Given the description of an element on the screen output the (x, y) to click on. 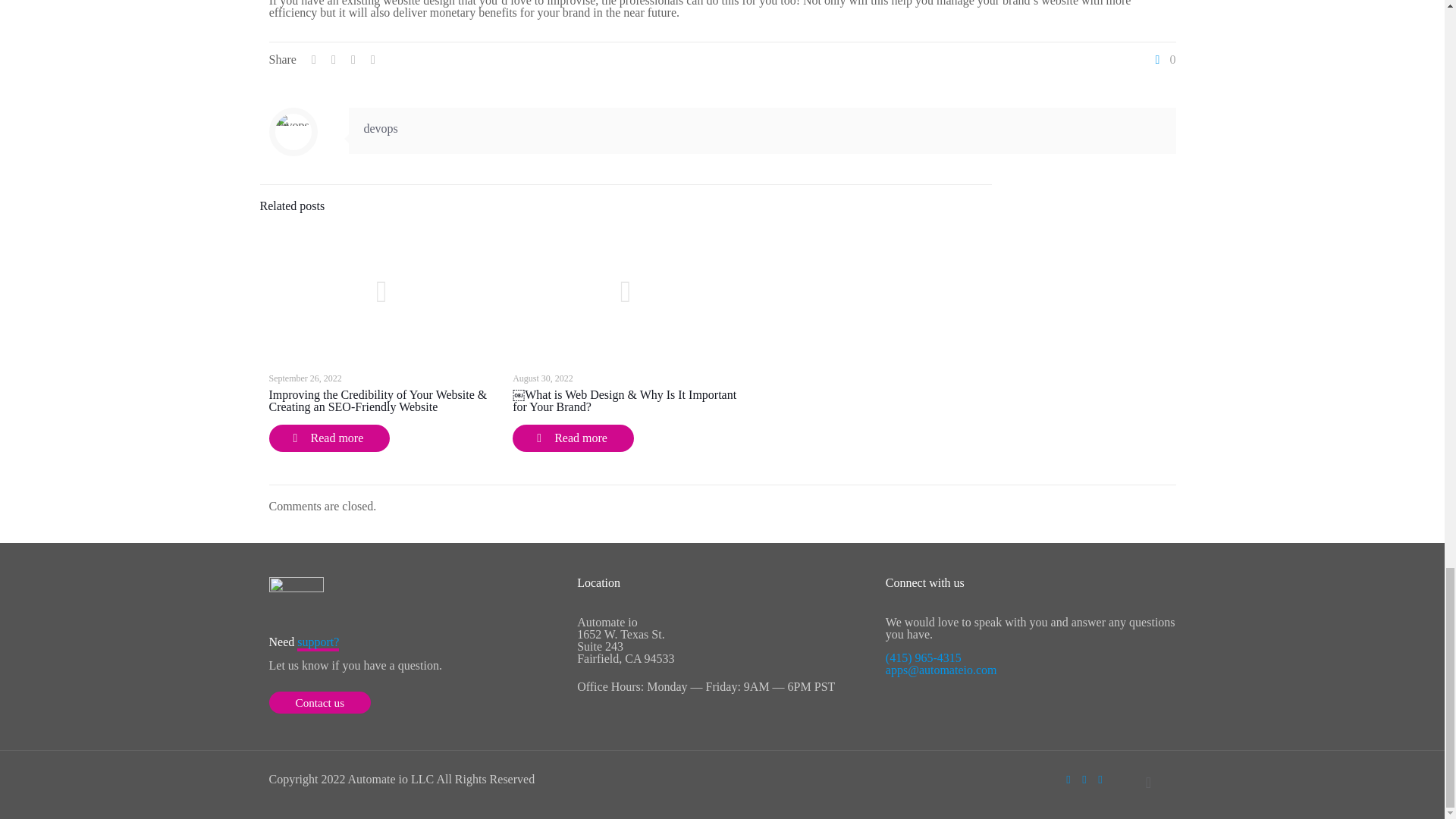
Contact us (319, 702)
0 (1162, 60)
Read more (328, 438)
Instagram (1100, 779)
devops (380, 128)
Read more (572, 438)
Facebook (1068, 779)
